Given the description of an element on the screen output the (x, y) to click on. 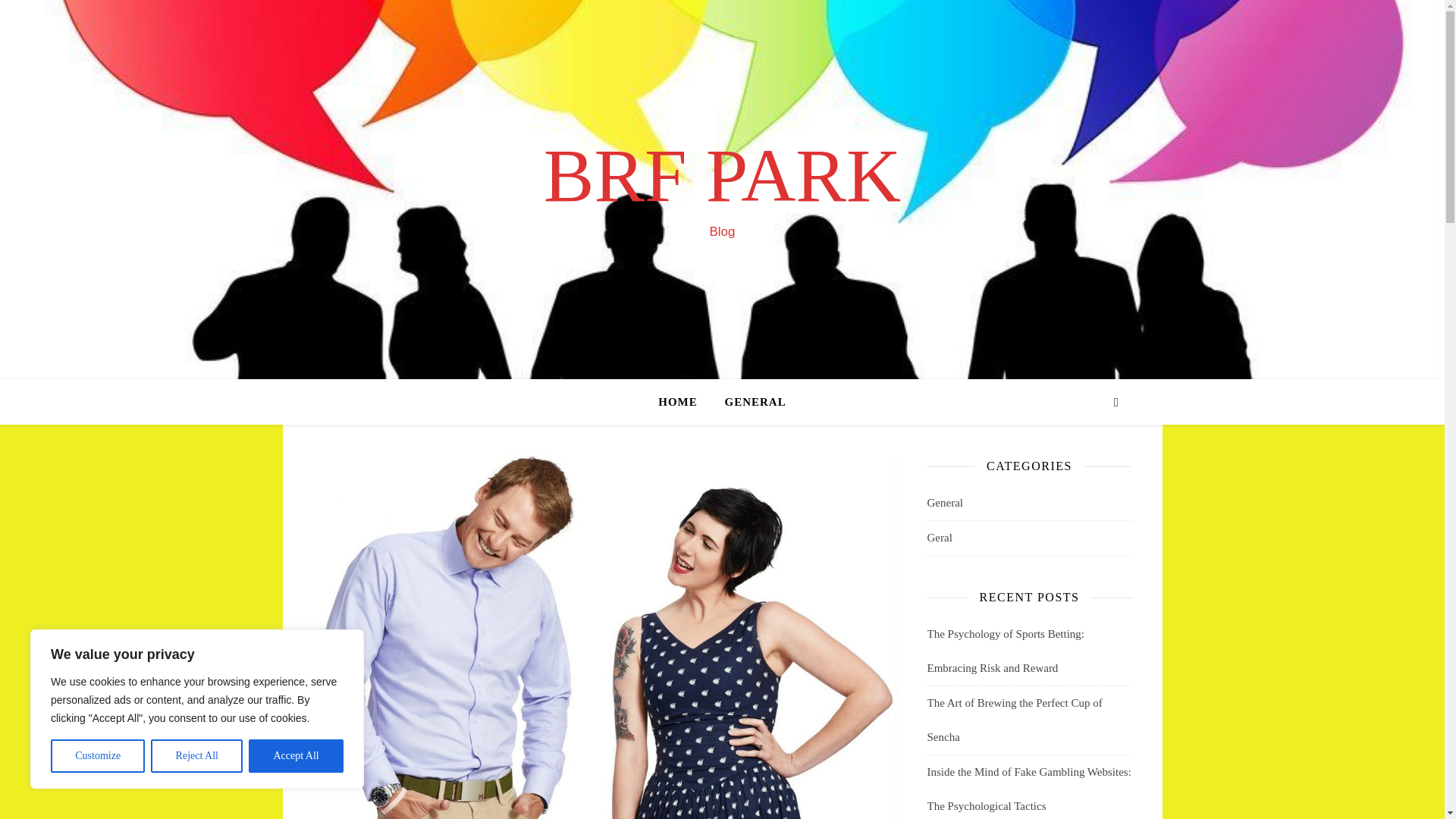
Customize (97, 756)
The Art of Brewing the Perfect Cup of Sencha (1014, 719)
HOME (684, 402)
The Psychology of Sports Betting: Embracing Risk and Reward (1005, 651)
Reject All (197, 756)
General (944, 503)
Accept All (295, 756)
GENERAL (749, 402)
